Given the description of an element on the screen output the (x, y) to click on. 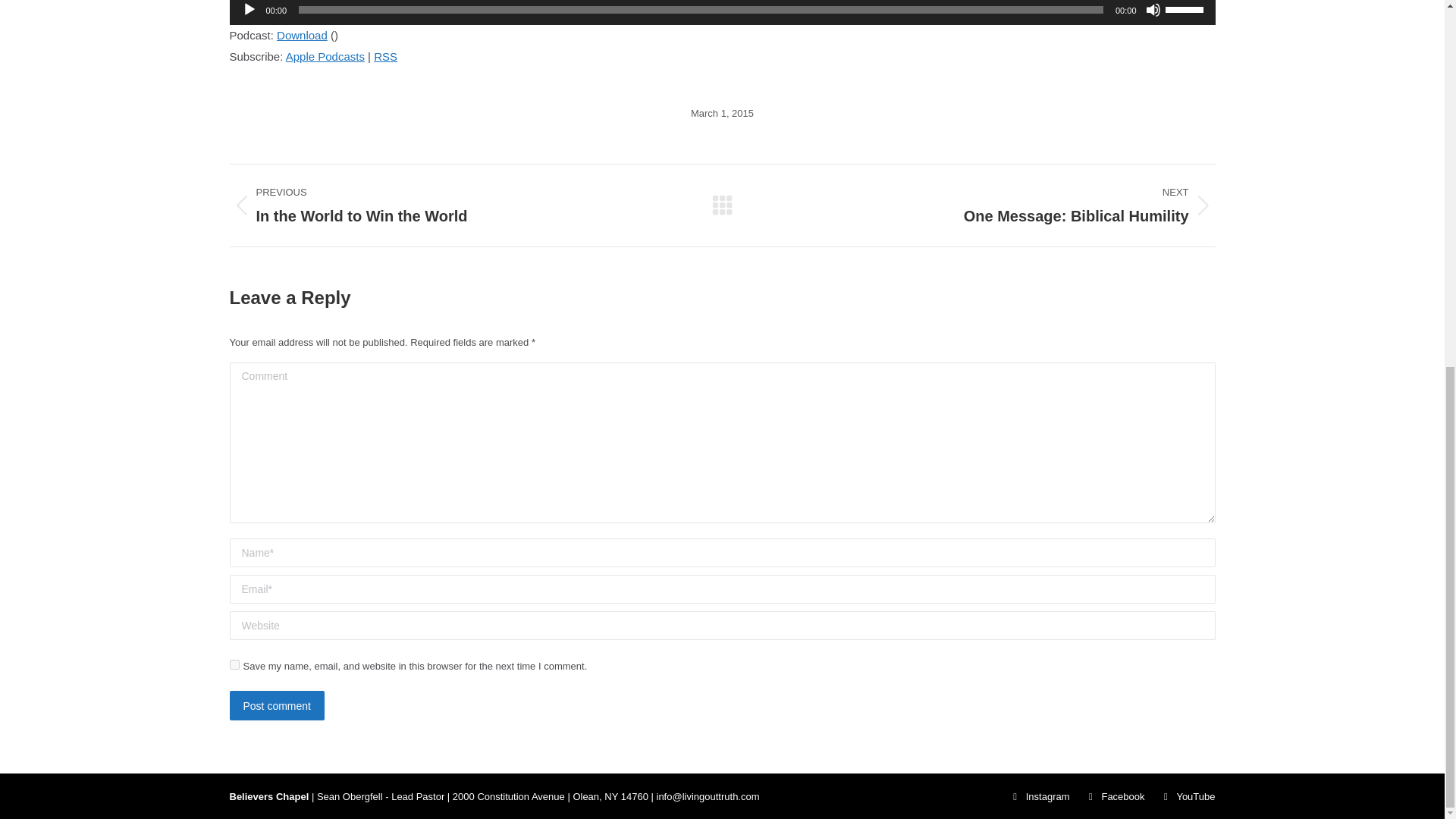
Play (248, 9)
yes (233, 664)
